Given the description of an element on the screen output the (x, y) to click on. 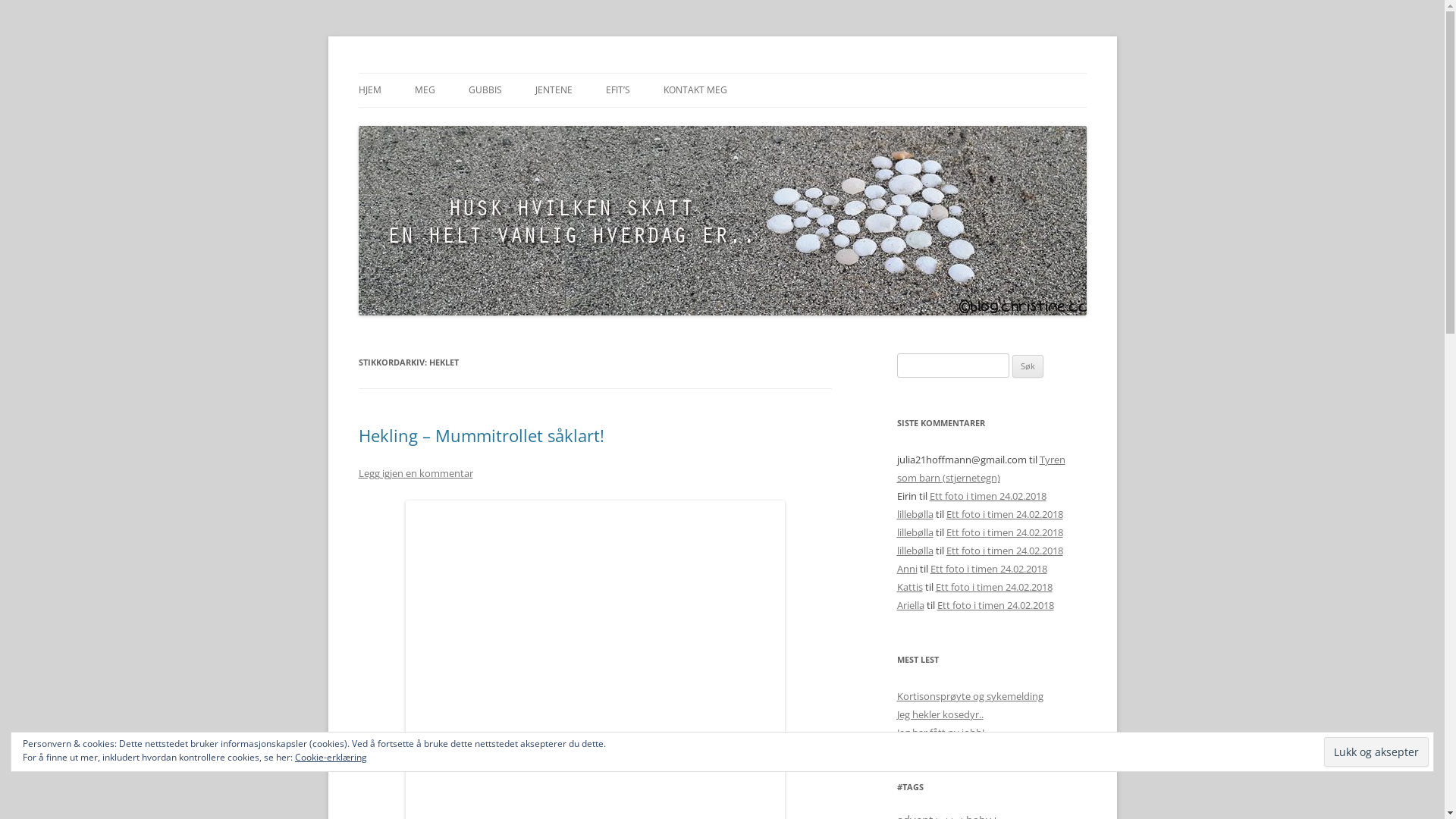
Legg igjen en kommentar Element type: text (414, 473)
Ett foto i timen 24.02.2018 Element type: text (987, 568)
Ett foto i timen 24.02.2018 Element type: text (1004, 513)
Anni Element type: text (906, 568)
Tyren som barn (stjernetegn) Element type: text (980, 468)
MEG Element type: text (424, 89)
Kattis Element type: text (909, 586)
Ett foto i timen 24.02.2018 Element type: text (1004, 532)
HJEM Element type: text (368, 89)
GUBBIS Element type: text (485, 89)
Jeg hekler kosedyr.. Element type: text (939, 714)
Hopp til innhold Element type: text (721, 72)
KONTAKT MEG Element type: text (694, 89)
Ett foto i timen 24.02.2018 Element type: text (993, 586)
Ett foto i timen 24.02.2018 Element type: text (1004, 550)
Ett foto i timen 24.02.2018 Element type: text (995, 604)
Lukk og aksepter Element type: text (1376, 751)
Ariella Element type: text (909, 604)
JENTENE Element type: text (553, 89)
Ett foto i timen 24.02.2018 Element type: text (987, 495)
